Given the description of an element on the screen output the (x, y) to click on. 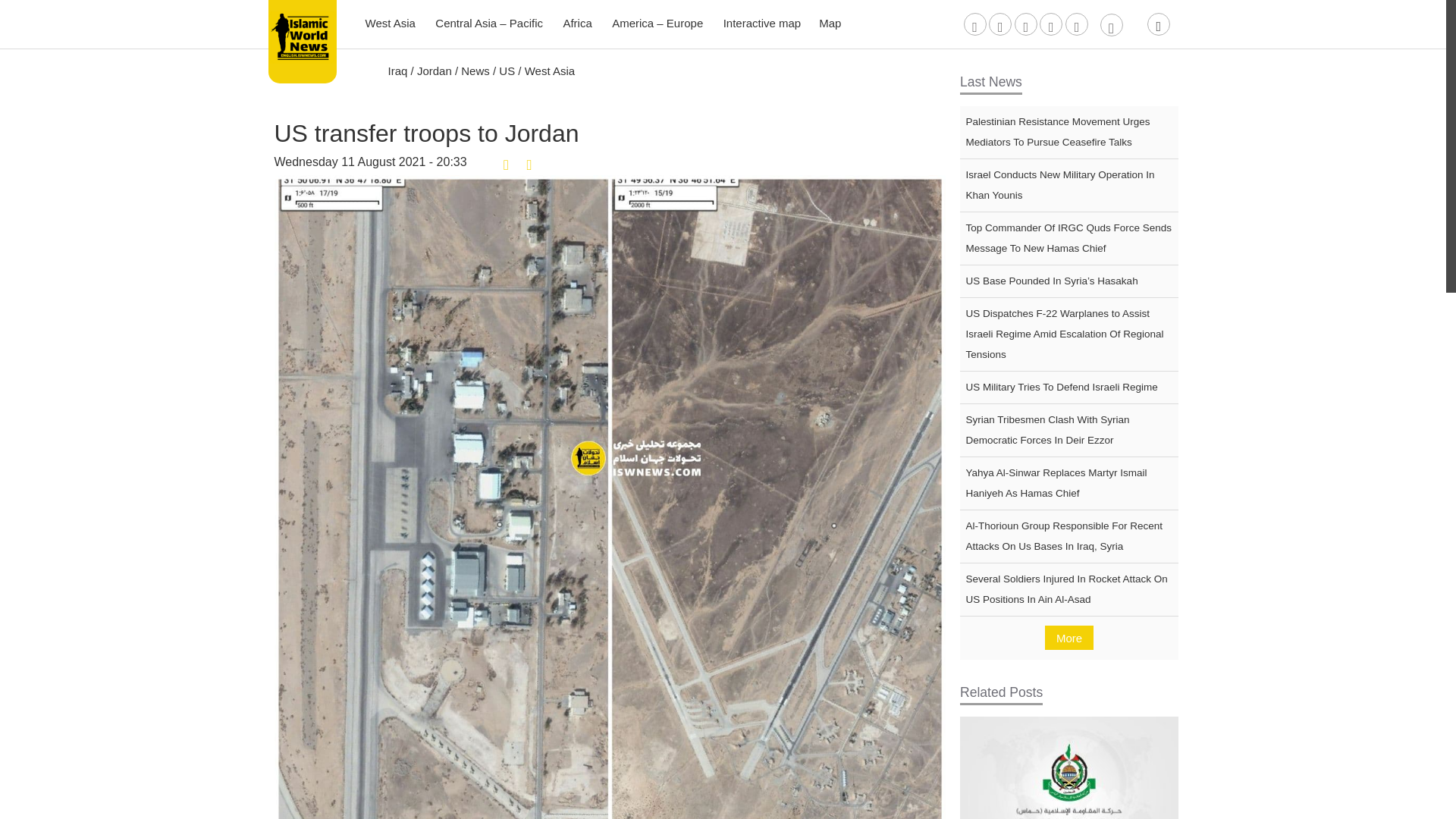
US Military Tries To Defend Israeli Regime (1068, 387)
West Asia (391, 22)
Israel Conducts New Military Operation In Khan Younis (1068, 185)
Africa (578, 22)
